Given the description of an element on the screen output the (x, y) to click on. 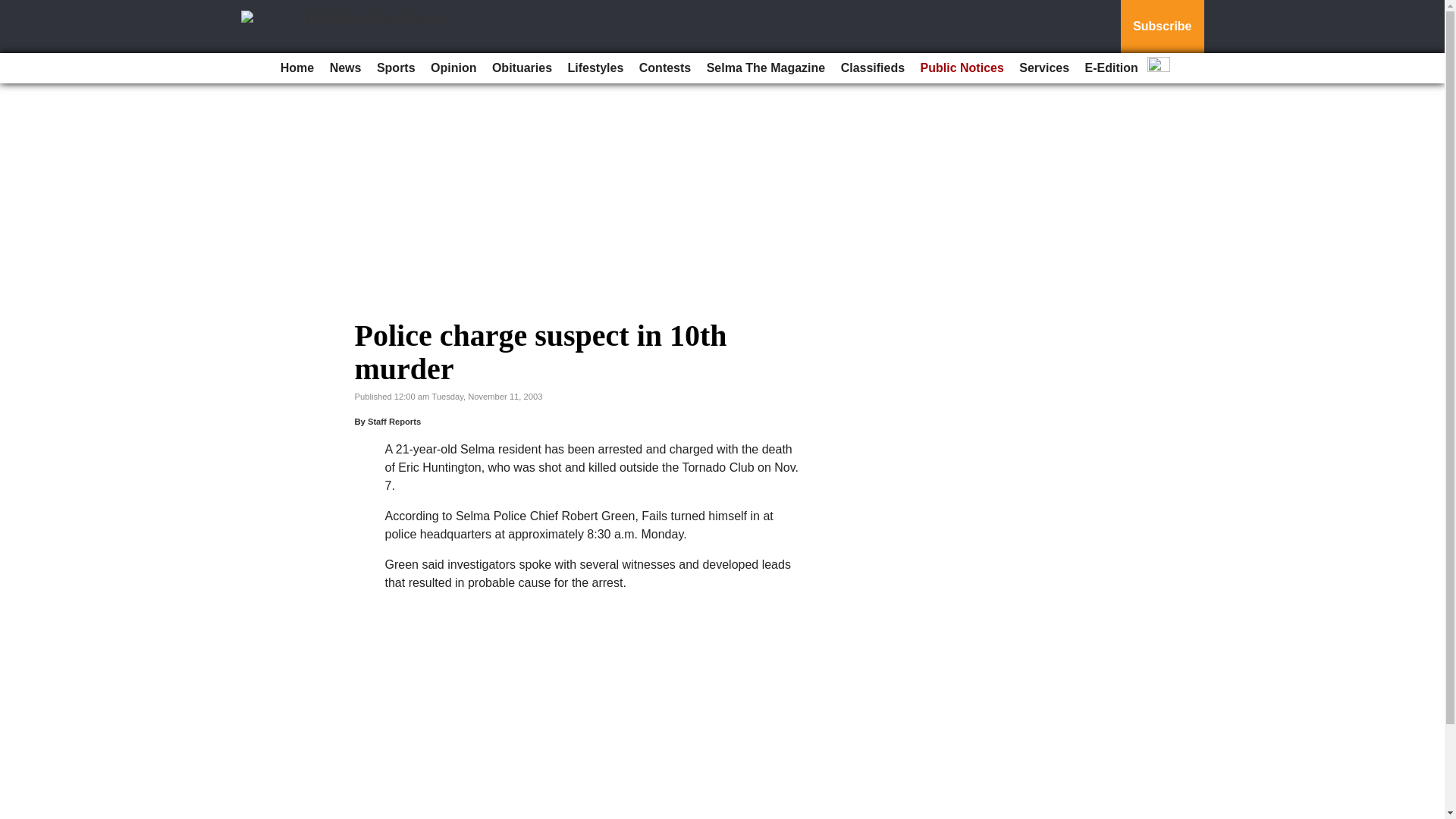
Go (13, 9)
Services (1044, 68)
Subscribe (1162, 26)
Obituaries (521, 68)
Contests (665, 68)
Staff Reports (394, 420)
Classifieds (872, 68)
Sports (396, 68)
Lifestyles (596, 68)
Home (297, 68)
